Given the description of an element on the screen output the (x, y) to click on. 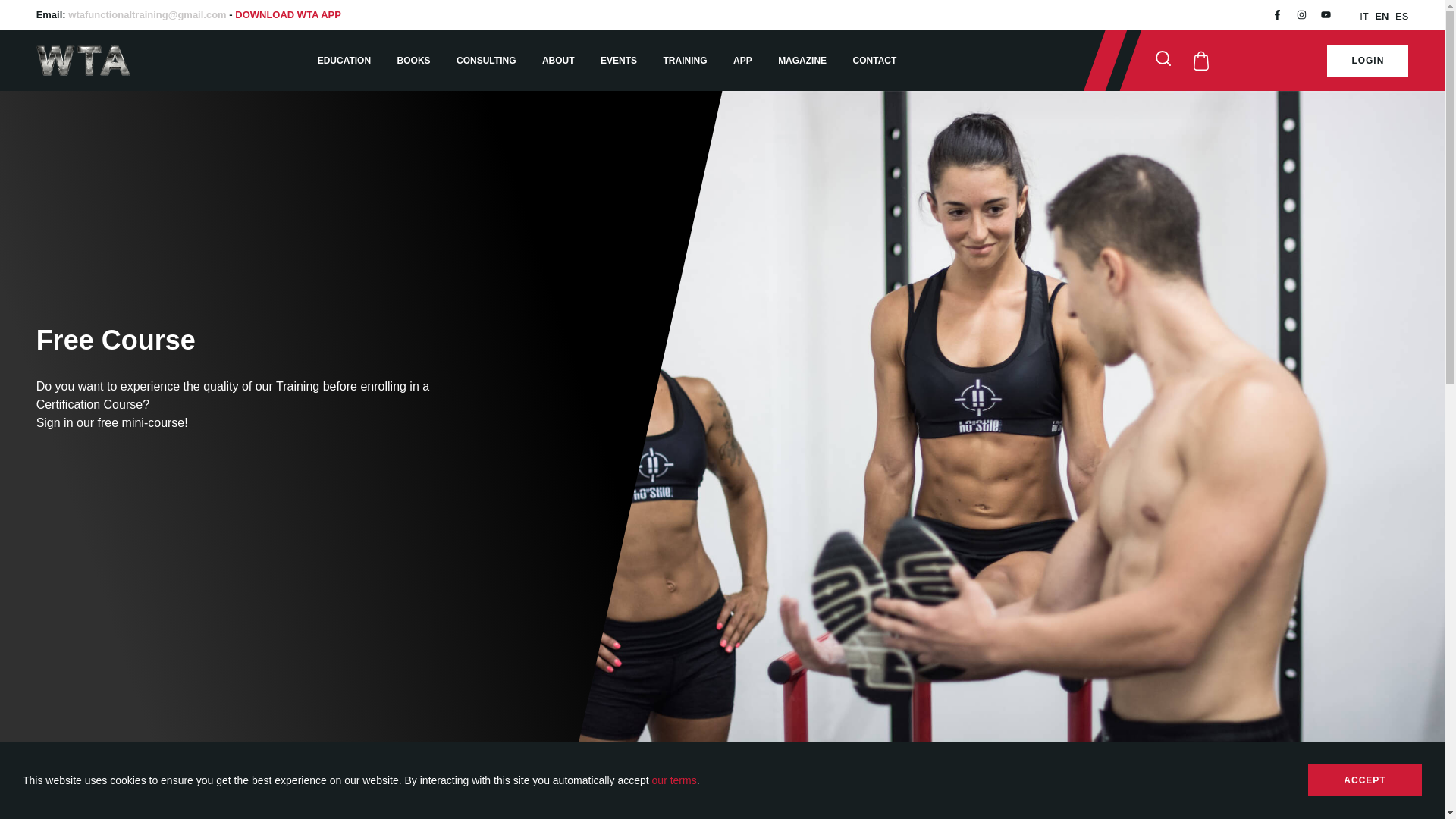
EDUCATION (344, 60)
EVENTS (618, 60)
DOWNLOAD WTA APP (287, 14)
TRAINING (685, 60)
BOOKS (413, 60)
CONSULTING (486, 60)
EN (1381, 16)
